Given the description of an element on the screen output the (x, y) to click on. 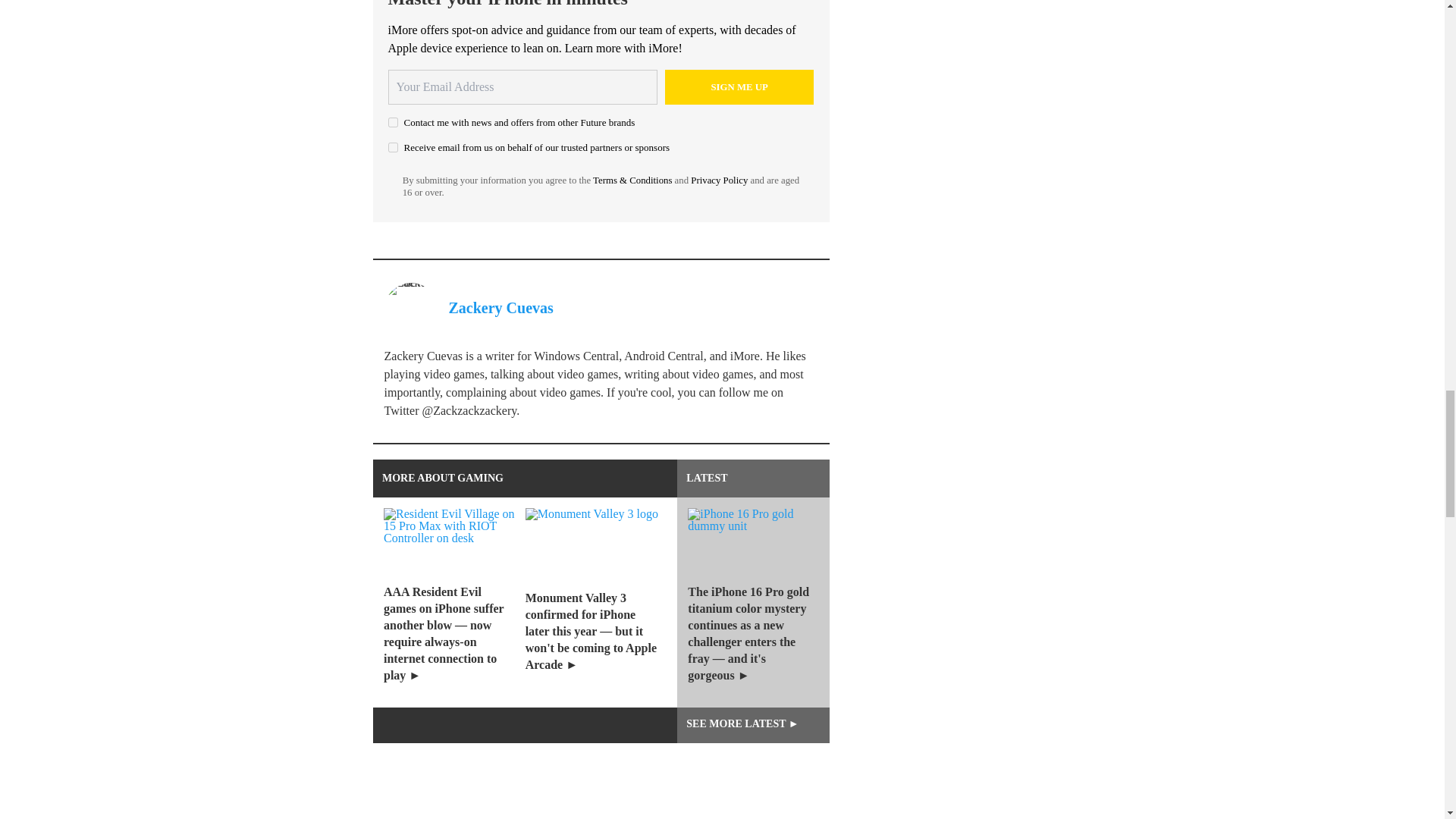
Sign me up (739, 86)
on (392, 147)
on (392, 122)
